Given the description of an element on the screen output the (x, y) to click on. 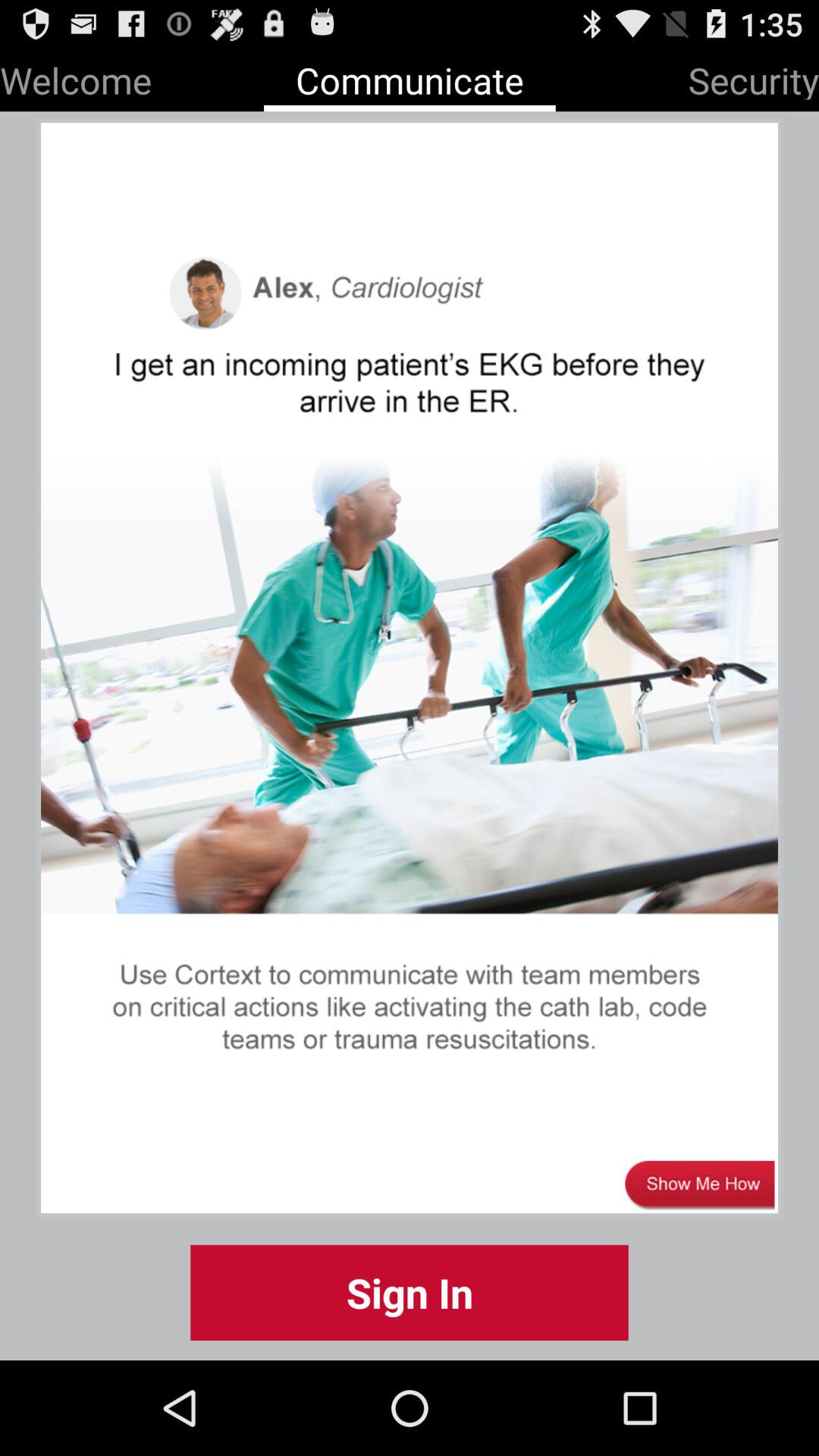
launch the app next to communicate app (753, 77)
